Given the description of an element on the screen output the (x, y) to click on. 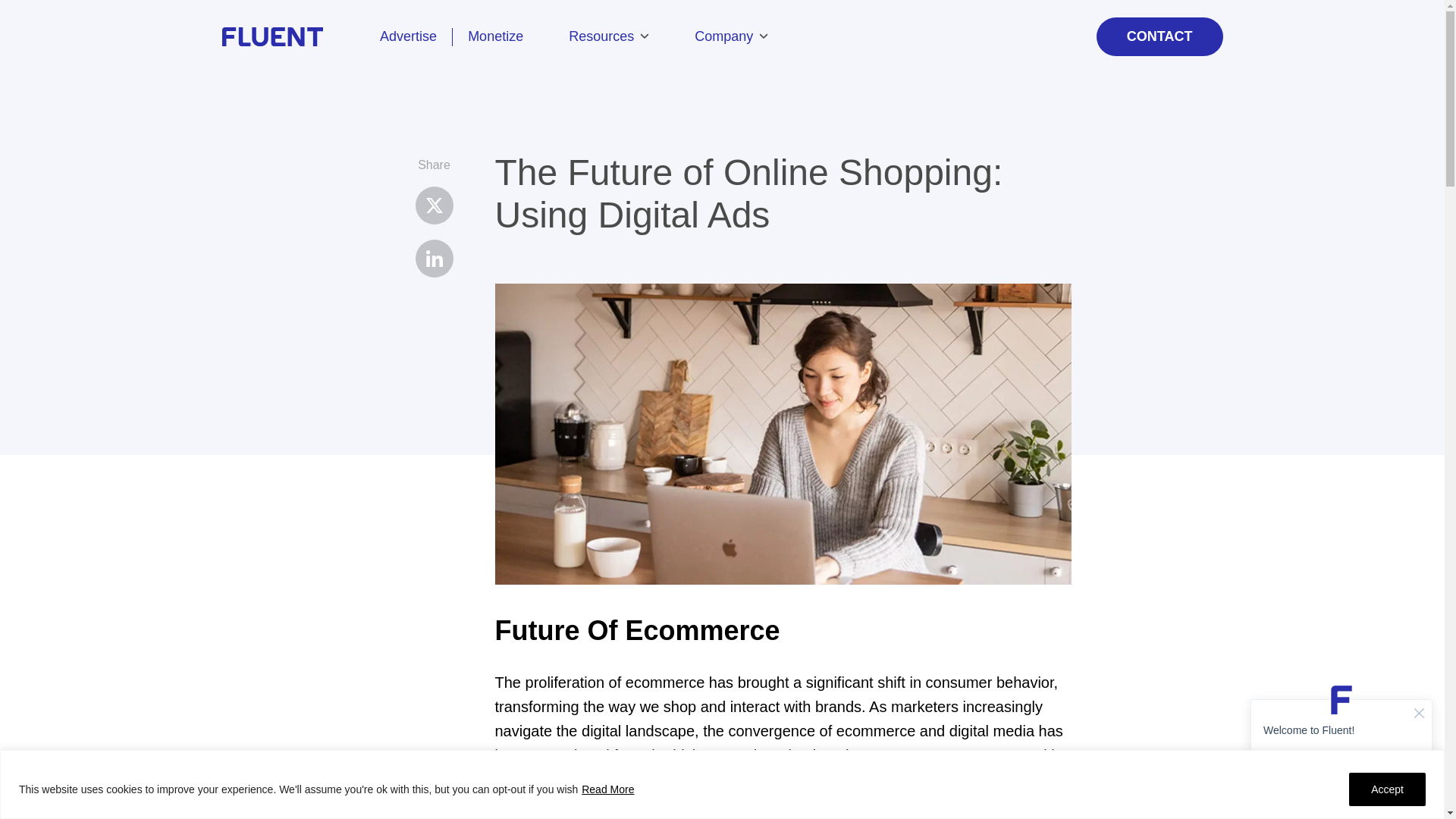
Accept (1387, 788)
CONTACT (1159, 36)
Company (731, 36)
Monetize (502, 36)
Read More (607, 789)
Resources (608, 36)
Advertise (408, 36)
Fluent (293, 36)
